Given the description of an element on the screen output the (x, y) to click on. 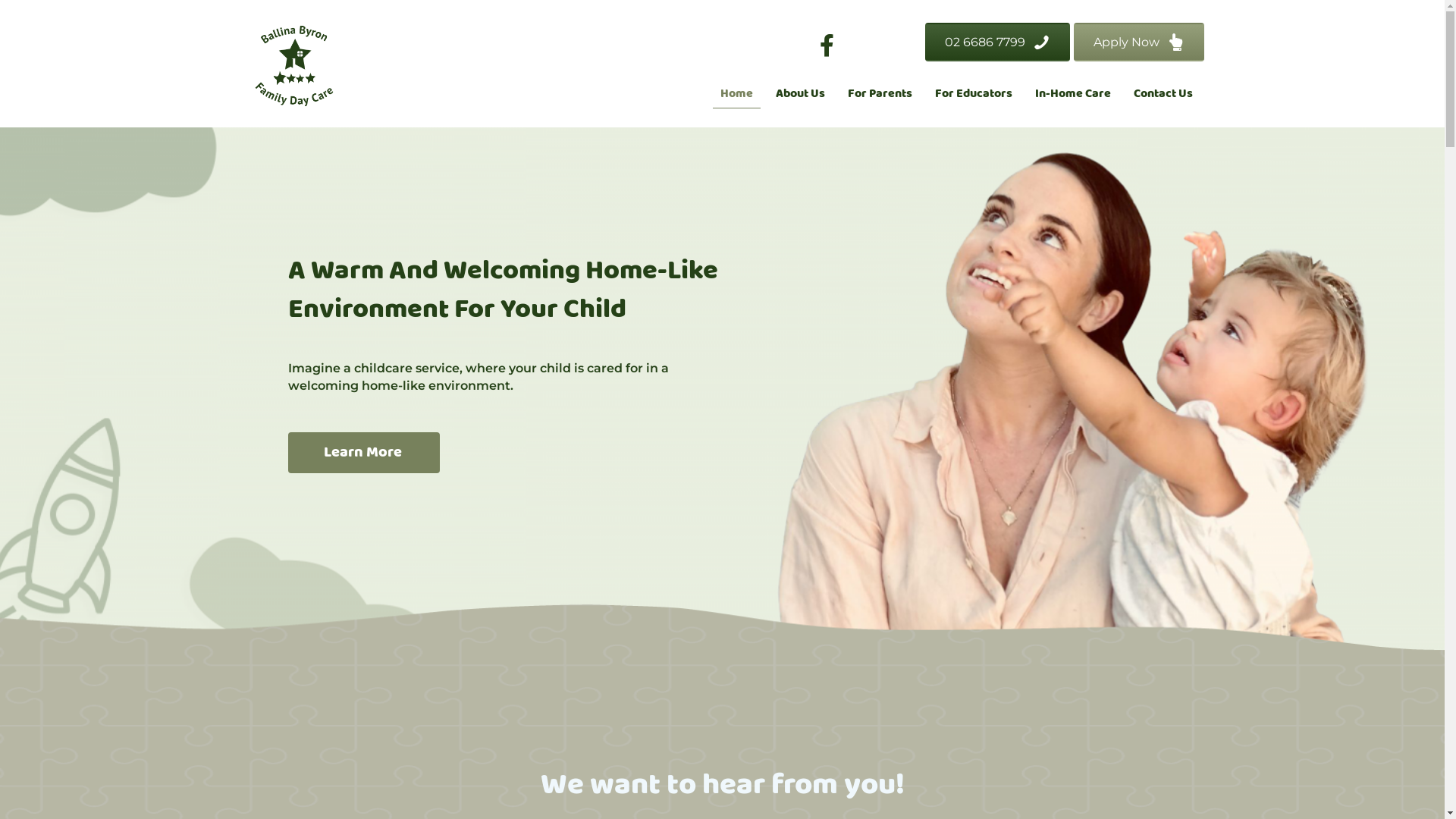
Home Element type: text (736, 94)
For Educators Element type: text (973, 94)
In-Home Care Element type: text (1072, 94)
Learn More Element type: text (363, 452)
About Us Element type: text (800, 94)
Ballina-Byron-Family-Day-Care-v2 Element type: hover (293, 66)
Contact Us Element type: text (1163, 94)
02 6686 7799 Element type: text (997, 41)
For Parents Element type: text (879, 94)
Apply Now Element type: text (1138, 41)
